Given the description of an element on the screen output the (x, y) to click on. 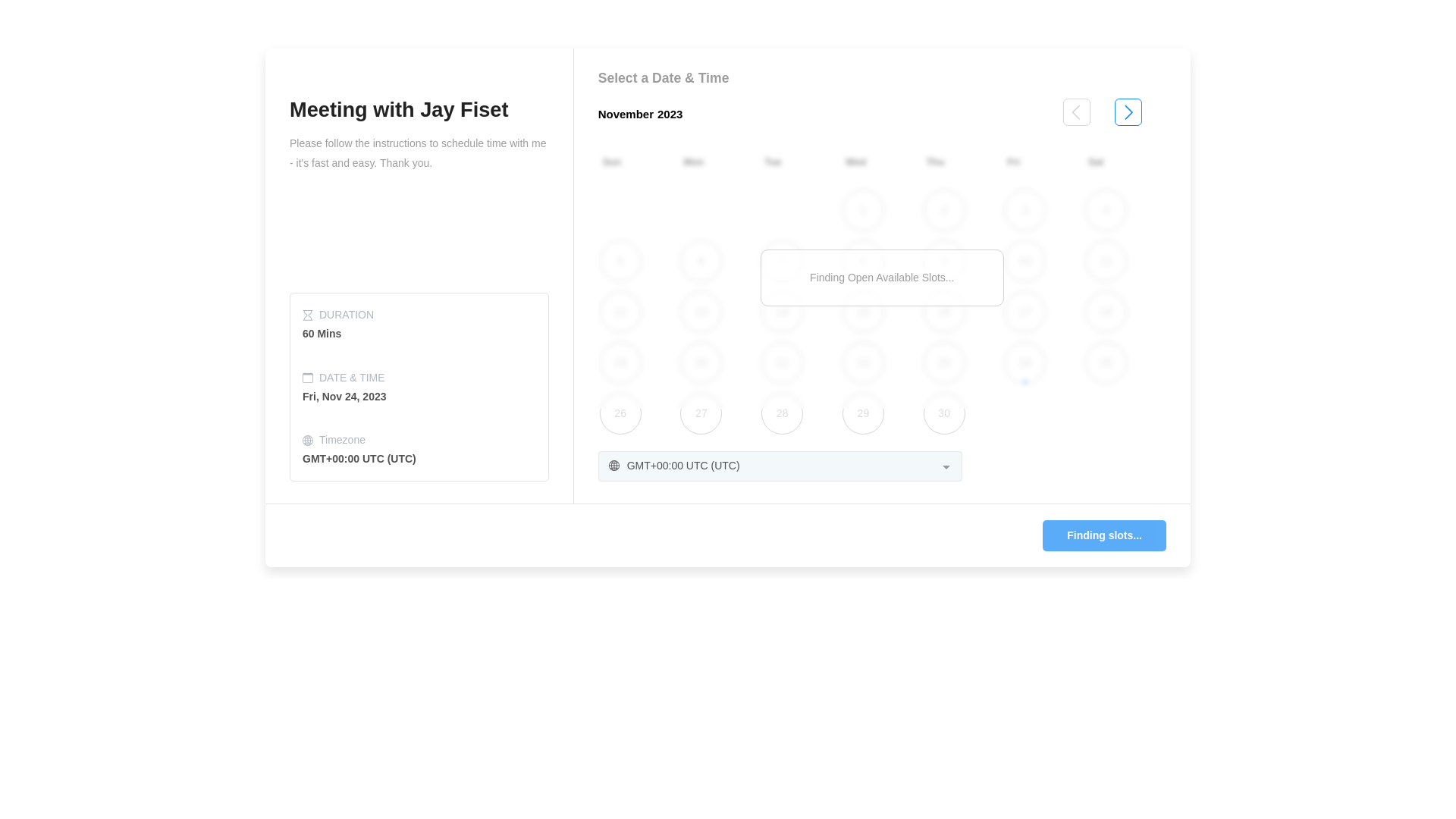
2023 Element type: text (669, 113)
November Element type: text (625, 113)
Next month Element type: hover (1128, 114)
Finding slots... Element type: text (1104, 535)
Previous month Element type: hover (1076, 114)
